Given the description of an element on the screen output the (x, y) to click on. 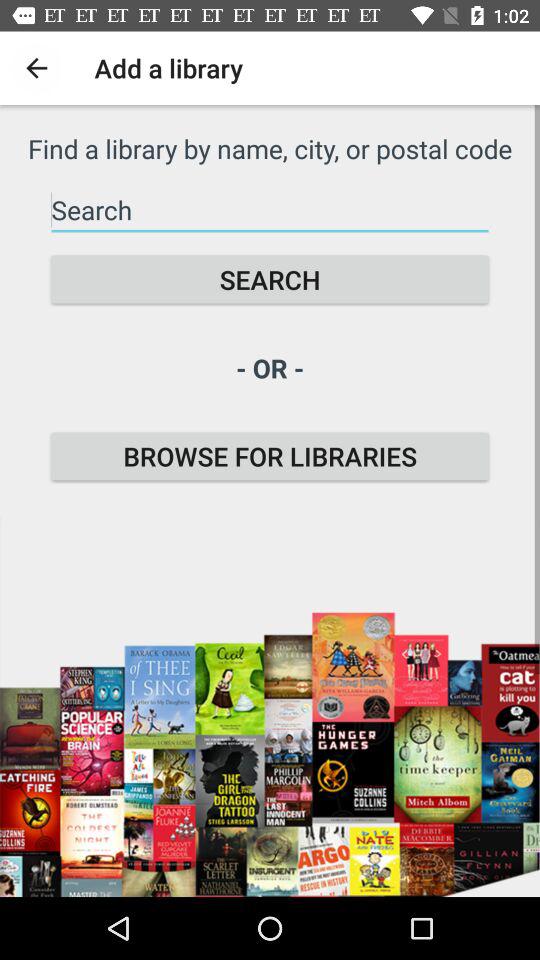
turn on icon below the - or - icon (269, 455)
